Given the description of an element on the screen output the (x, y) to click on. 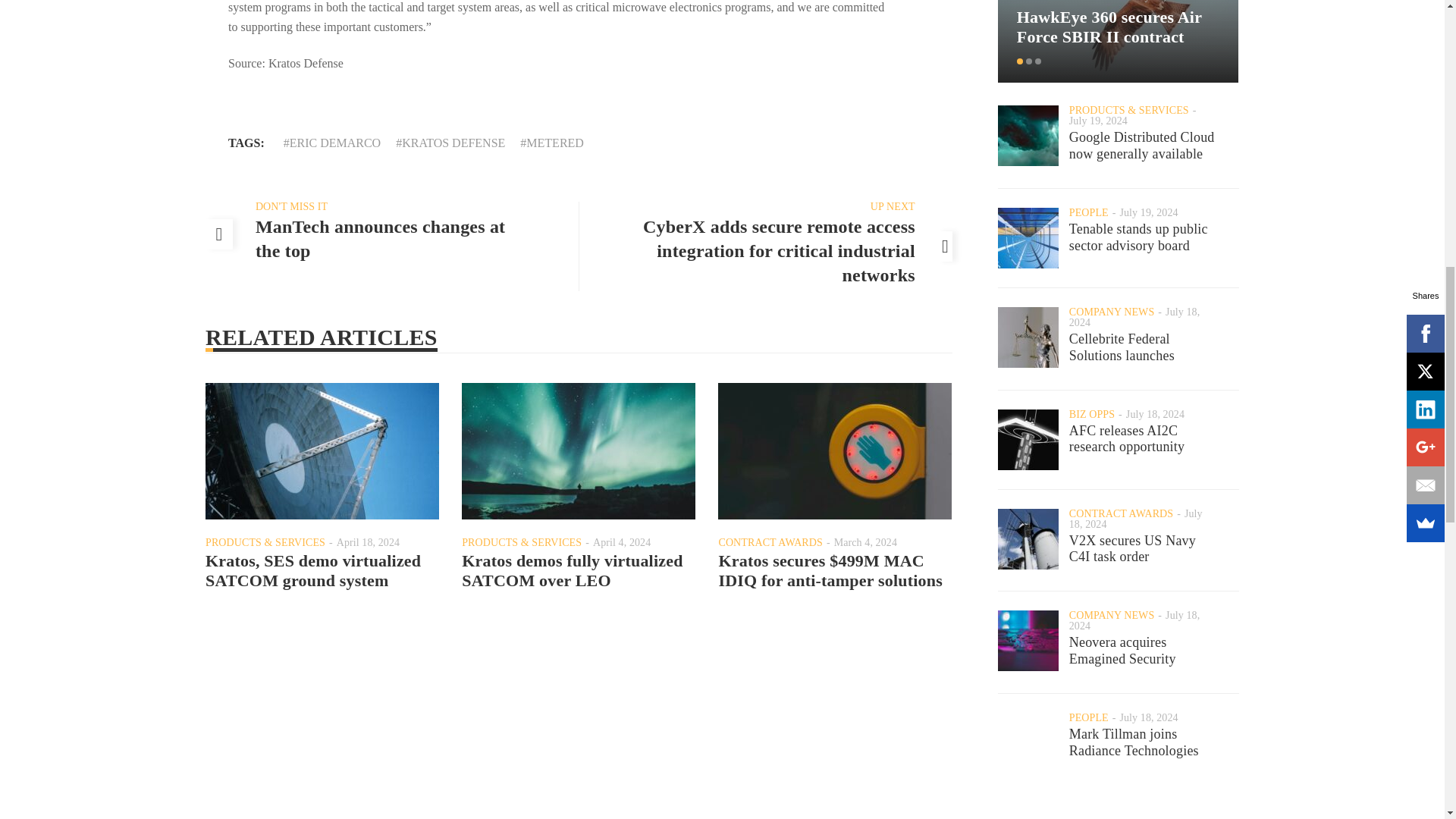
ManTech announces changes at the top (380, 239)
Kratos demos fully virtualized SATCOM over LEO (571, 570)
Kratos, SES demo virtualized SATCOM ground system (312, 570)
